Given the description of an element on the screen output the (x, y) to click on. 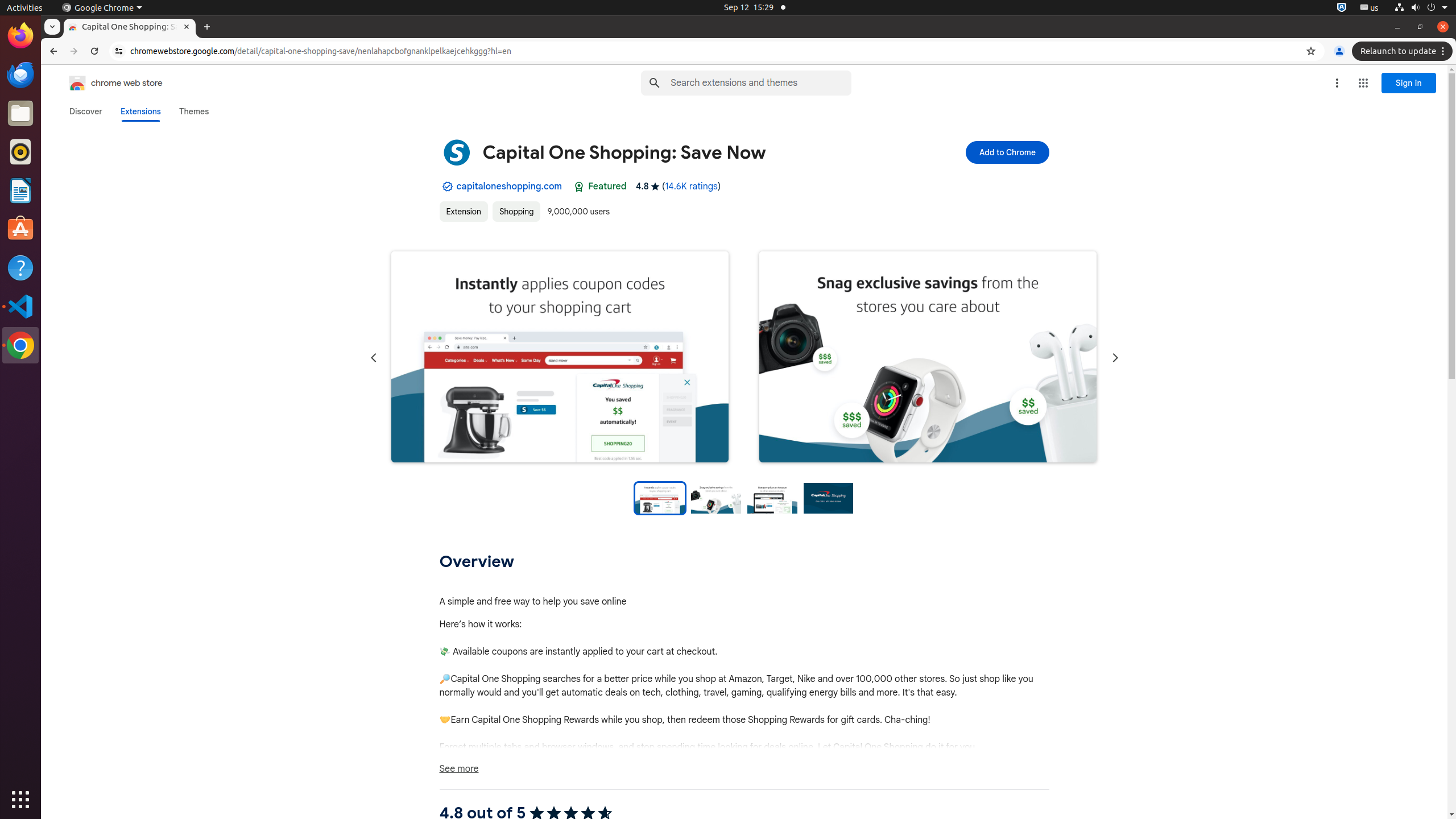
Thunderbird Mail Element type: push-button (20, 74)
Next slide Element type: push-button (1114, 357)
Show Applications Element type: toggle-button (20, 799)
Preview slide 3 Element type: push-button (772, 498)
Back Element type: push-button (51, 50)
